Given the description of an element on the screen output the (x, y) to click on. 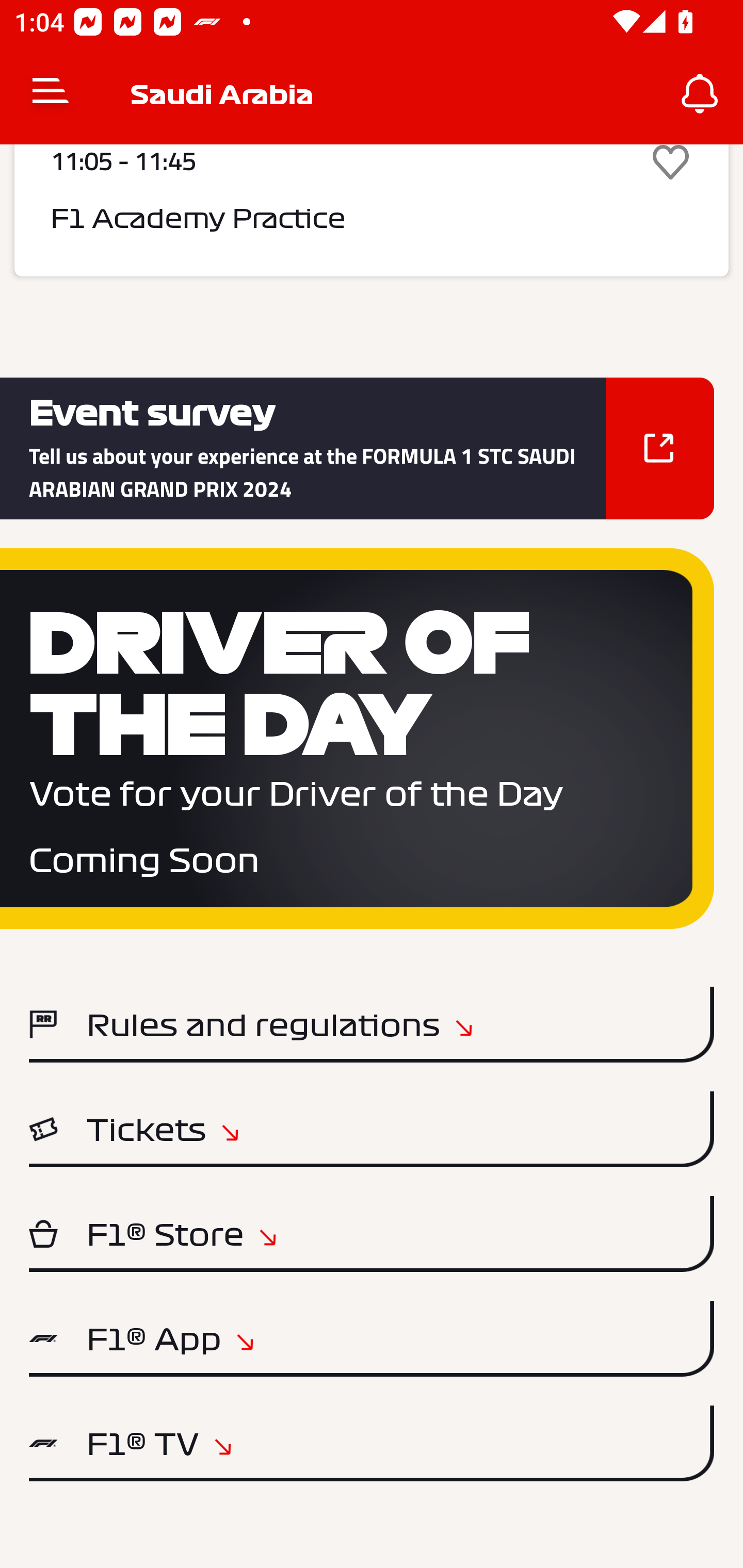
Navigate up (50, 93)
Notifications (699, 93)
11:05 - 11:45 F1 Academy Practice (371, 209)
Rules and regulations (371, 1024)
Tickets (371, 1128)
F1® Store (371, 1233)
F1® App (371, 1338)
F1® TV (371, 1442)
